Given the description of an element on the screen output the (x, y) to click on. 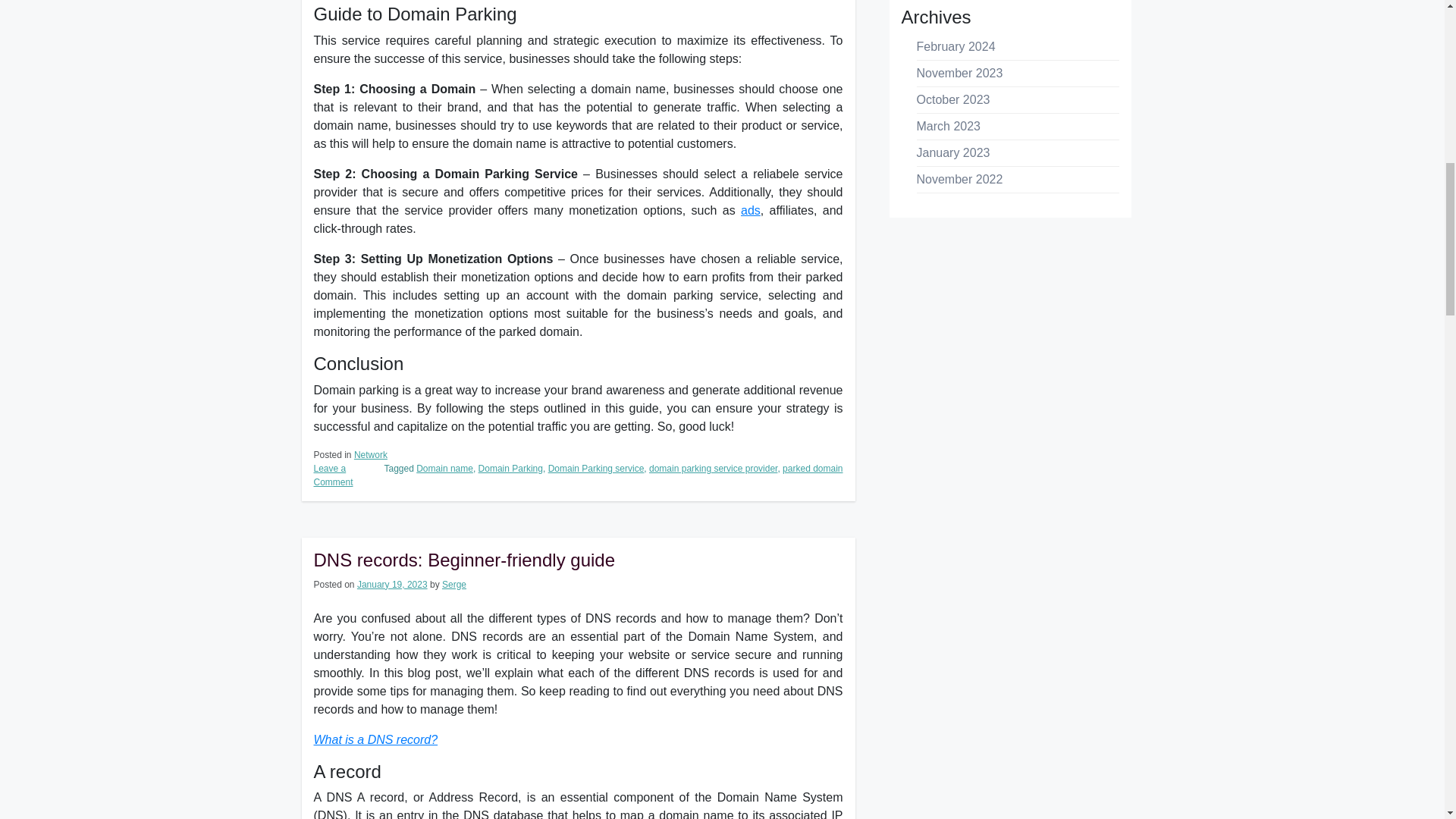
ads (750, 210)
Domain Parking (511, 468)
Serge (453, 584)
Domain Parking service (596, 468)
Domain name (444, 468)
Network (370, 454)
What is a DNS record? (376, 739)
domain parking service provider (713, 468)
DNS records: Beginner-friendly guide (464, 559)
January 19, 2023 (392, 584)
parked domain (813, 468)
